Given the description of an element on the screen output the (x, y) to click on. 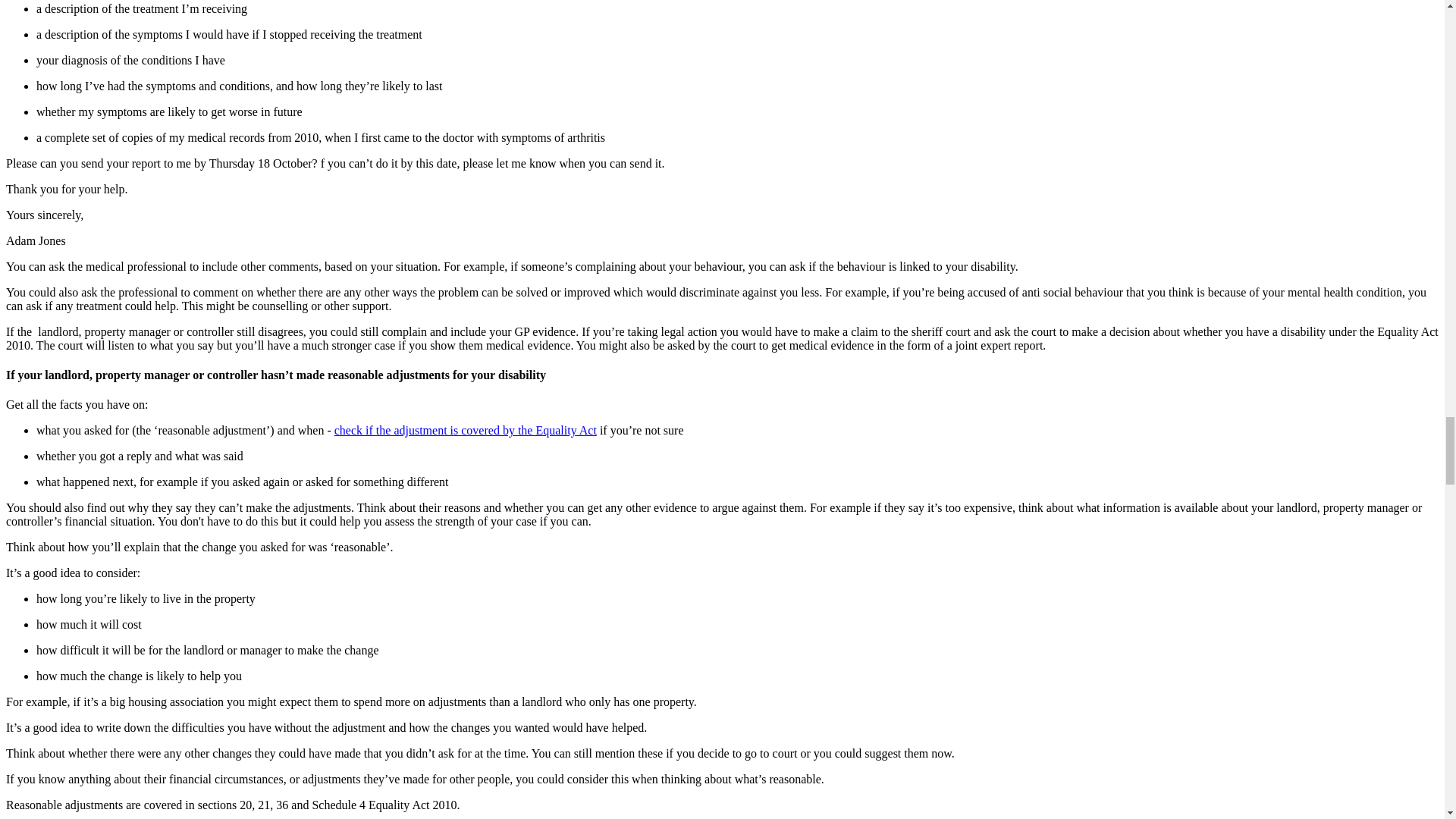
check if the adjustment is covered by the Equality Act (465, 430)
